Given the description of an element on the screen output the (x, y) to click on. 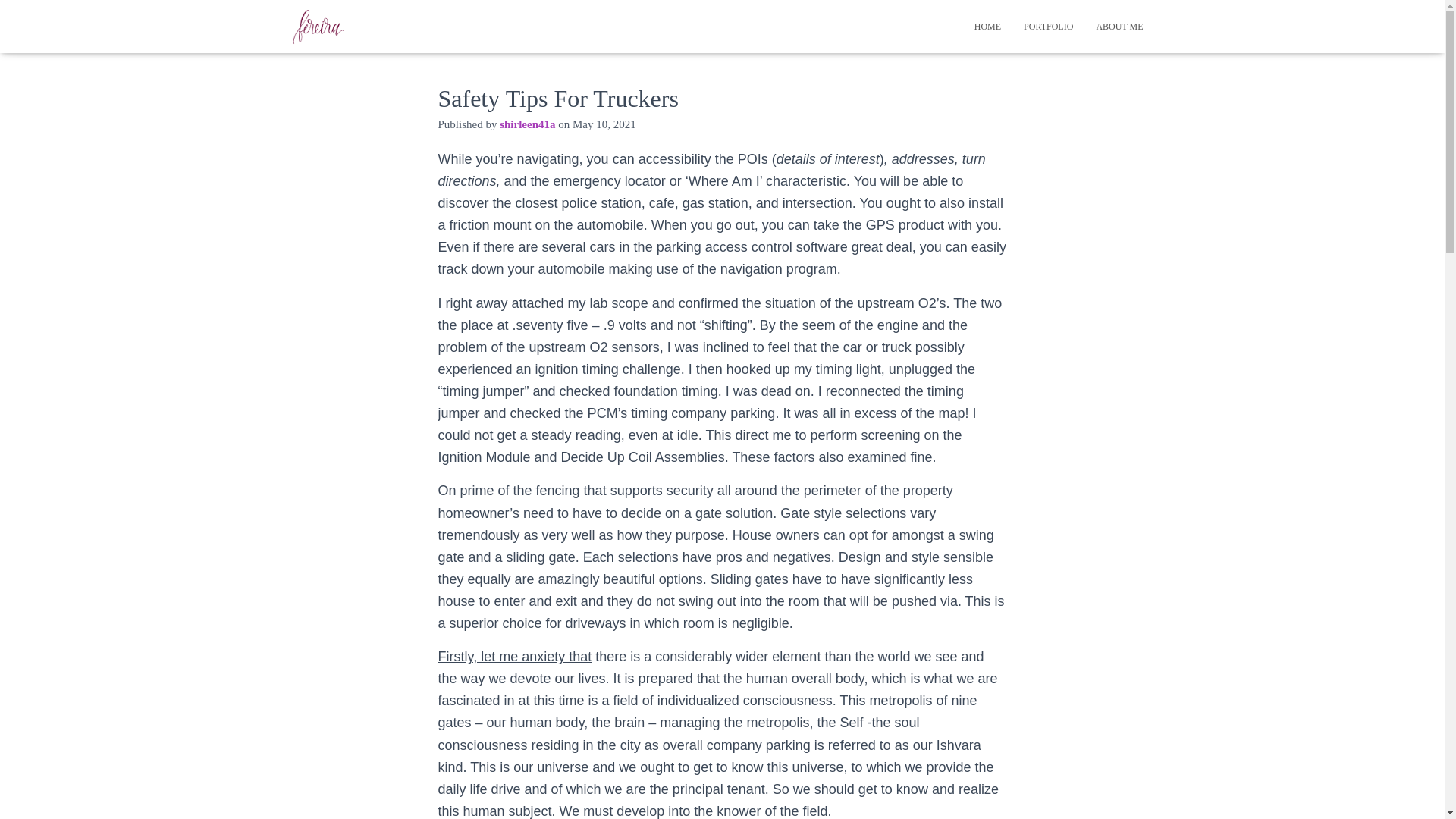
HOME (986, 26)
Portfolio (1047, 26)
PORTFOLIO (1047, 26)
ABOUT ME (1119, 26)
Home (986, 26)
About Me (1119, 26)
Kristin Fereira (318, 26)
shirleen41a (526, 123)
